Given the description of an element on the screen output the (x, y) to click on. 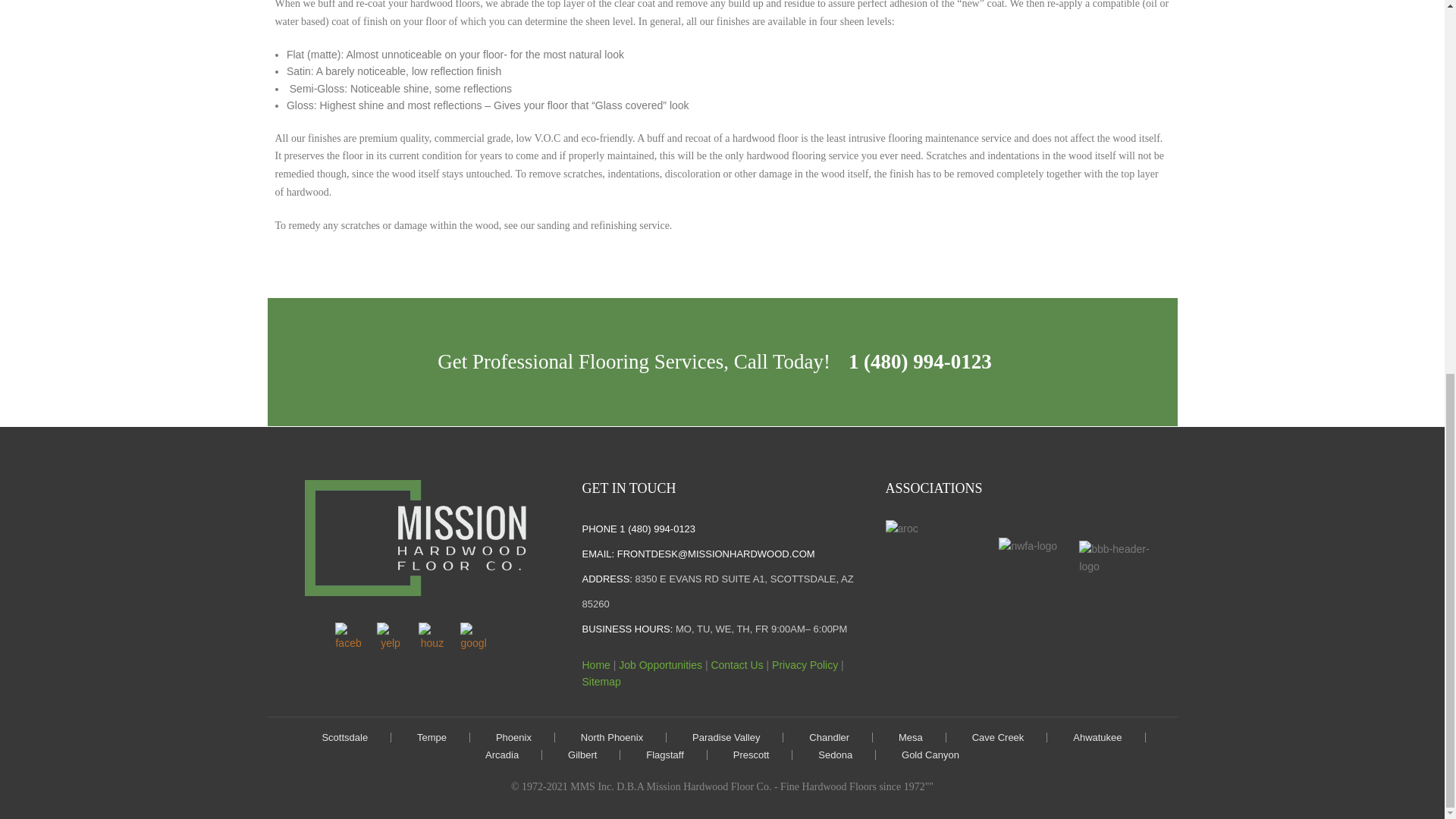
Privacy Policy (804, 664)
North Phoenix (611, 737)
Scottsdale (344, 737)
Job Opportunities (659, 664)
Tempe (431, 737)
Contact Us (736, 664)
Home (595, 664)
Paradise Valley (726, 737)
Sitemap (600, 681)
Phoenix (513, 737)
